Given the description of an element on the screen output the (x, y) to click on. 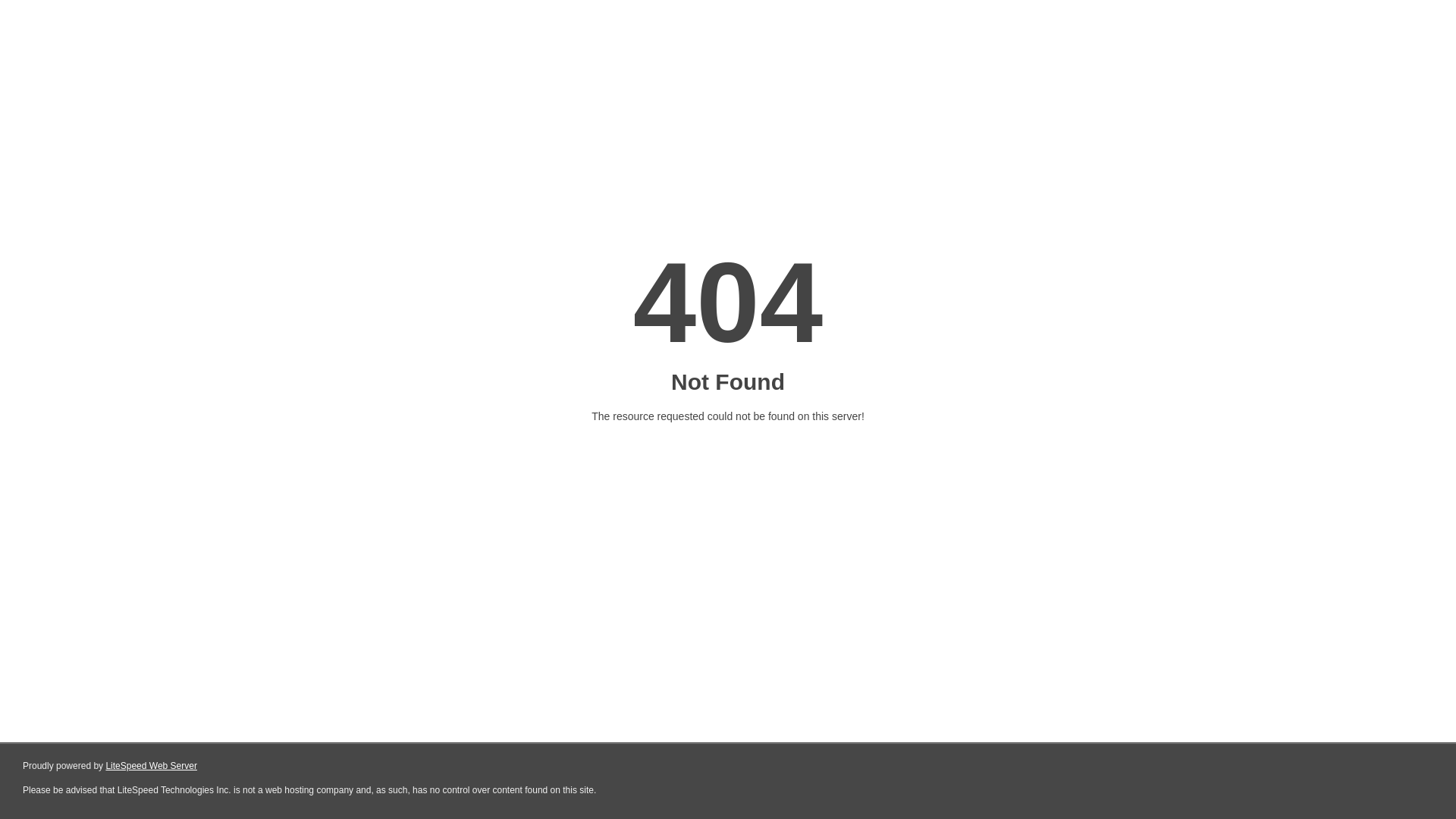
LiteSpeed Web Server Element type: text (151, 765)
